Given the description of an element on the screen output the (x, y) to click on. 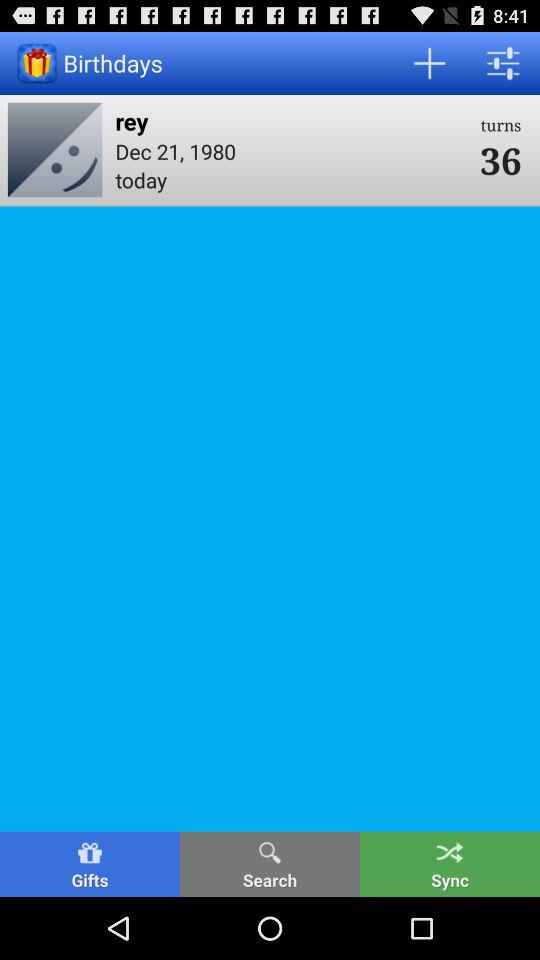
turn on the dec 21, 1980 item (291, 150)
